Given the description of an element on the screen output the (x, y) to click on. 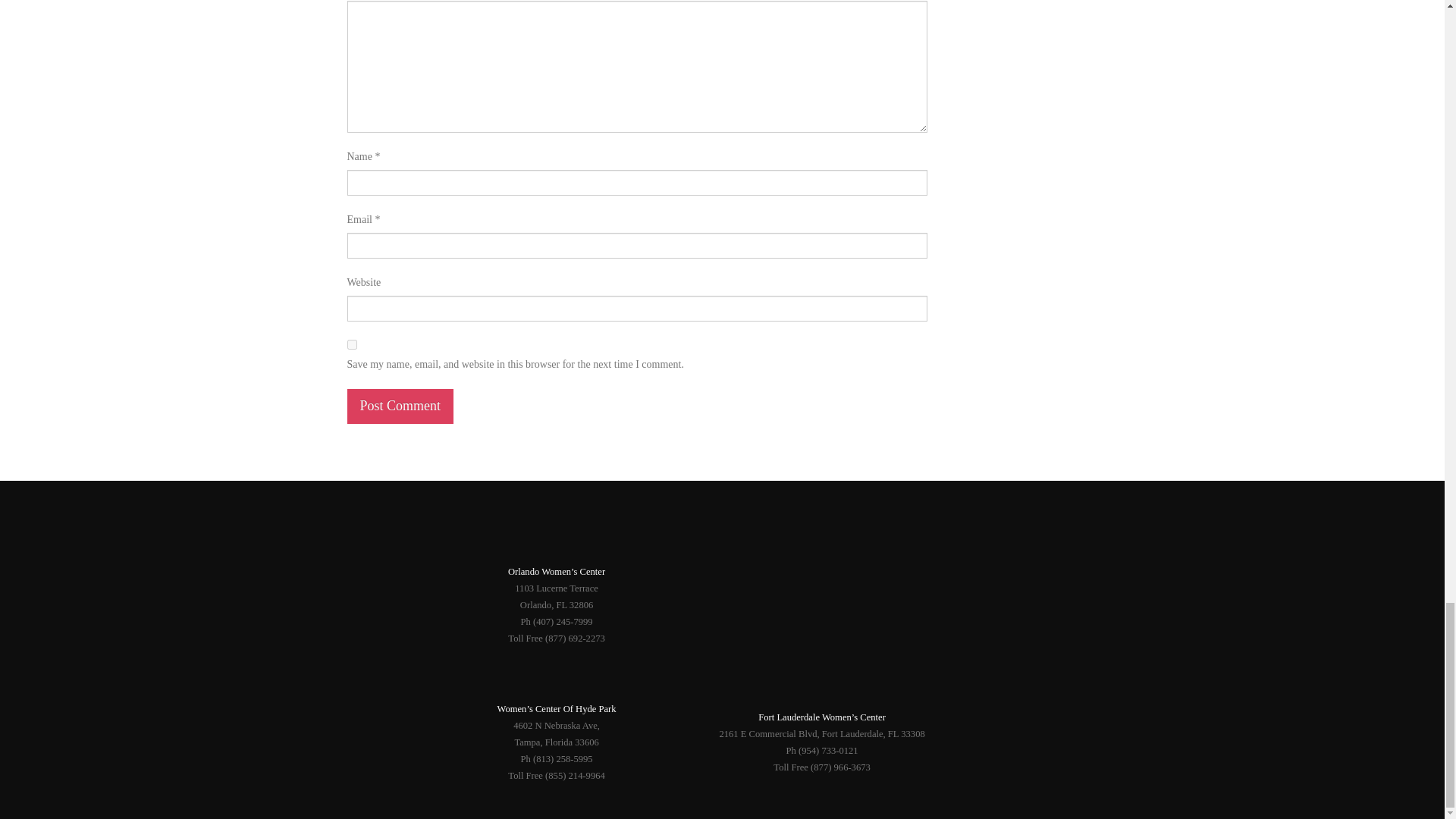
Post Comment (399, 406)
Post Comment (399, 406)
yes (351, 344)
